Given the description of an element on the screen output the (x, y) to click on. 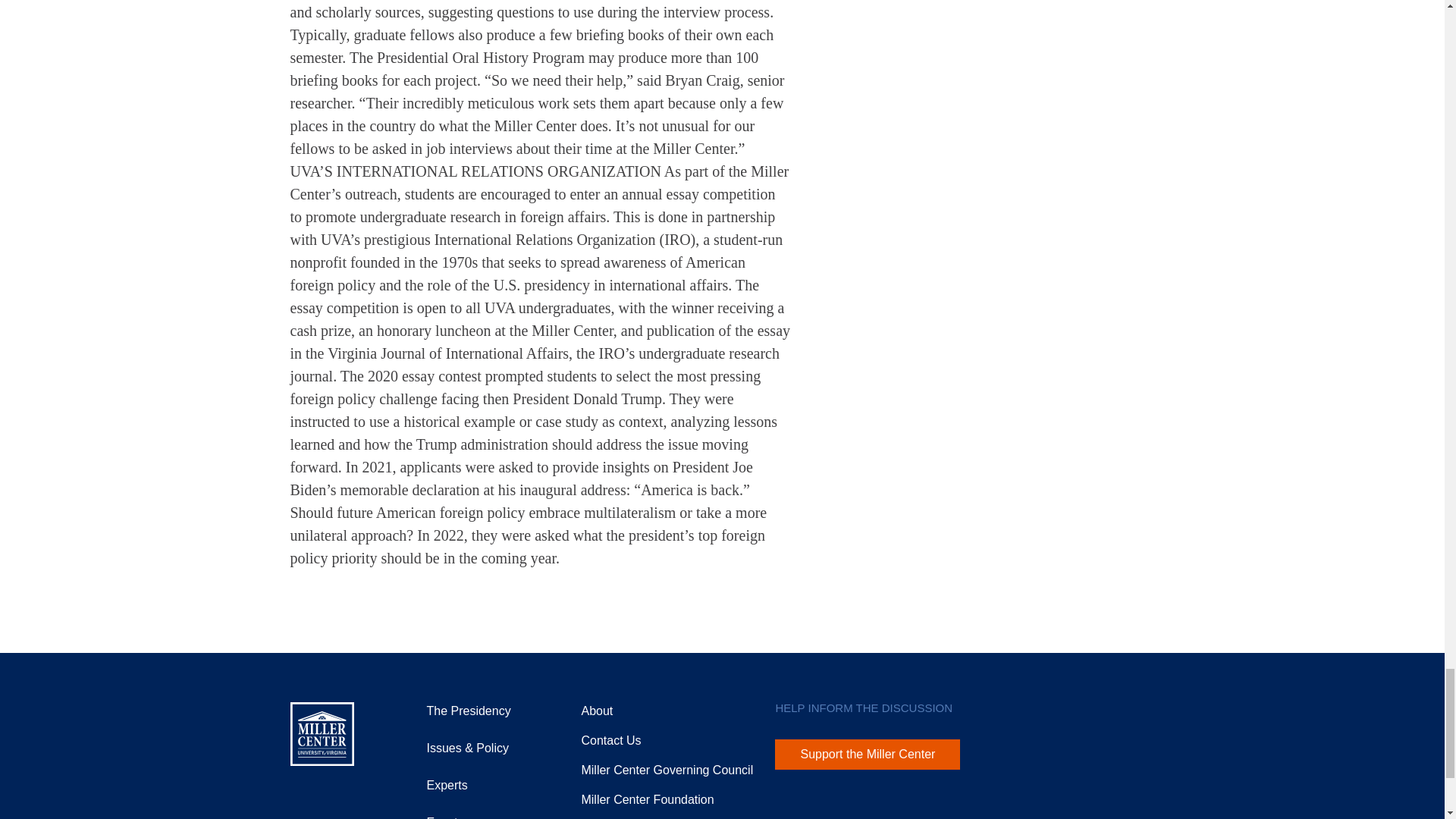
Home (321, 733)
Support (646, 799)
